Given the description of an element on the screen output the (x, y) to click on. 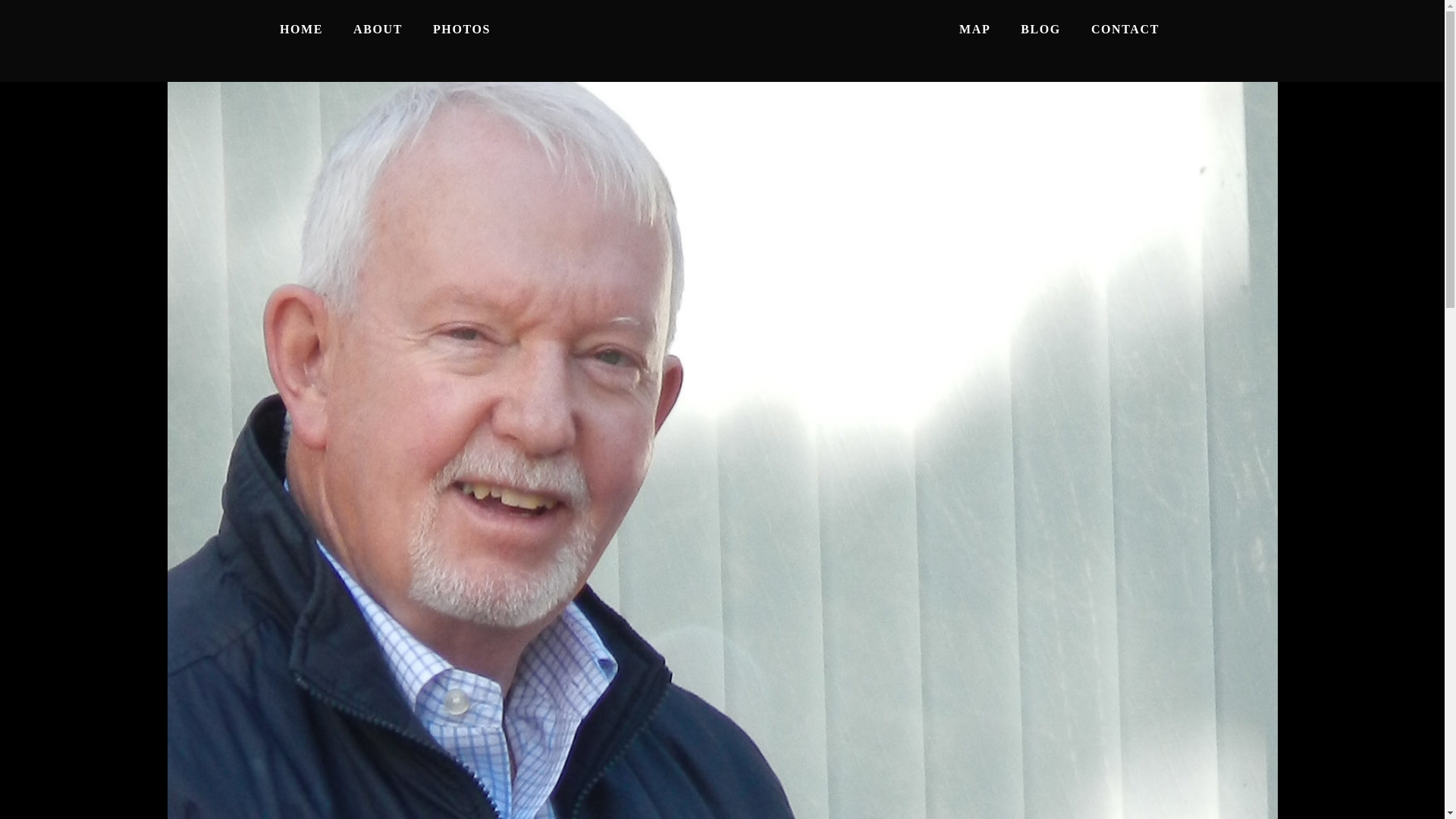
ABOUT (378, 29)
CONTACT (1124, 29)
MAP (974, 29)
BLOG (1040, 29)
HOME (301, 29)
PHOTOS (461, 29)
